Given the description of an element on the screen output the (x, y) to click on. 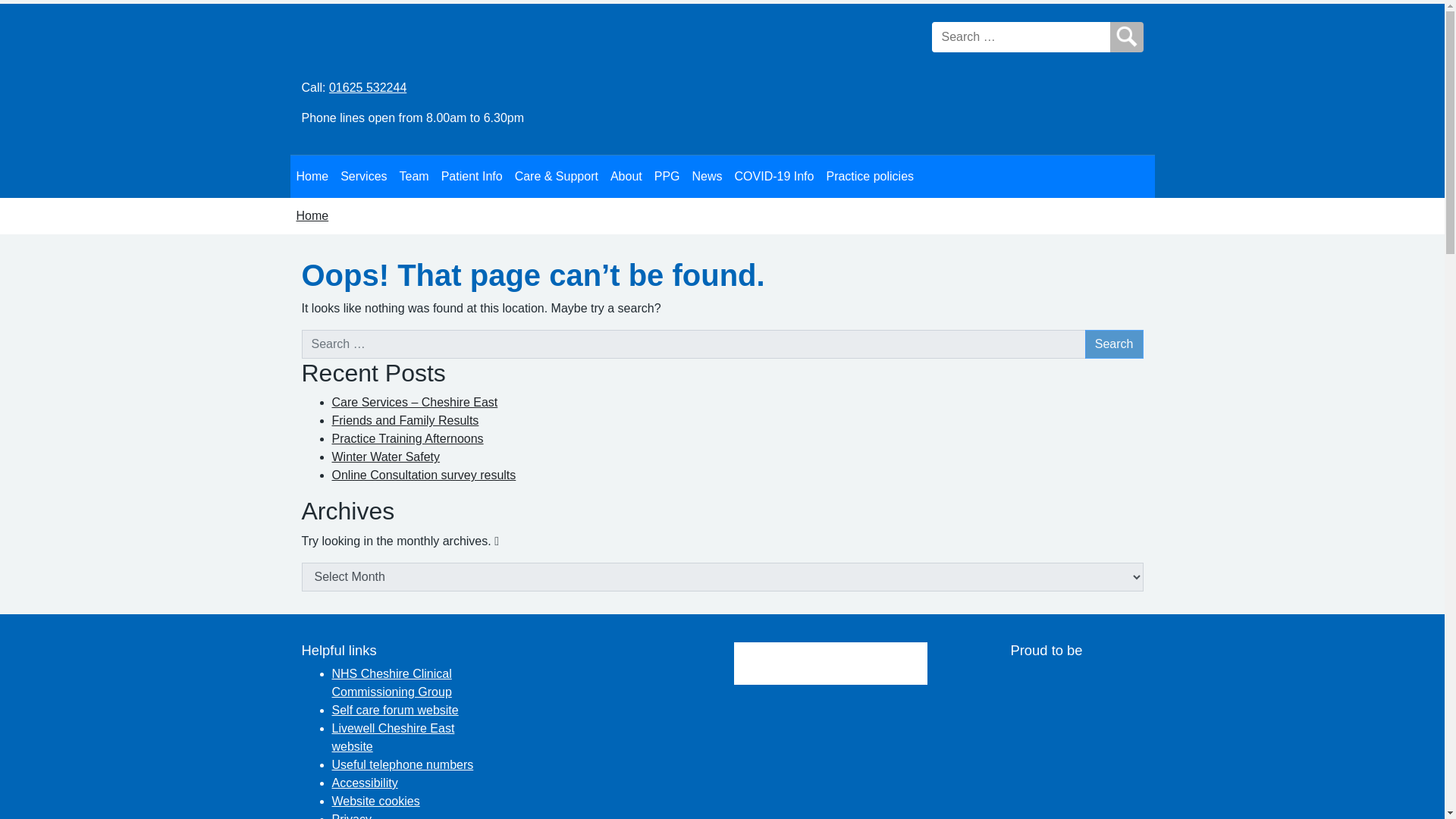
01625 532244 (367, 87)
search (1125, 37)
About (625, 176)
Home (311, 176)
search (1125, 37)
Winter Water Safety (386, 456)
Livewell Cheshire East website (392, 736)
Search (1113, 344)
COVID-19 Info (775, 176)
News (707, 176)
Search for: (1020, 37)
NHS Cheshire Clinical Commissioning Group (391, 682)
Useful telephone numbers (402, 764)
Self care forum website (394, 709)
Website cookies (375, 800)
